Given the description of an element on the screen output the (x, y) to click on. 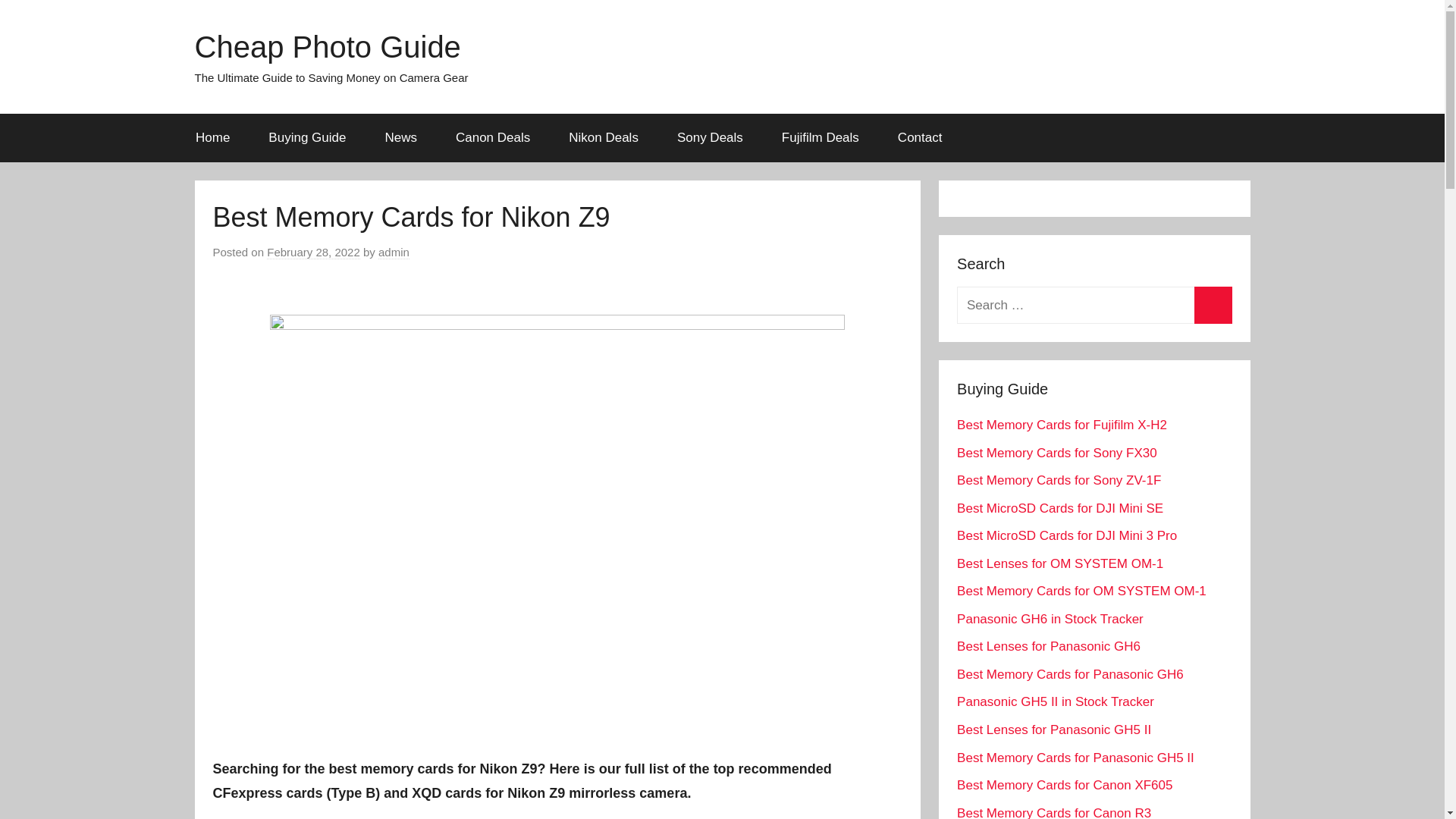
Fujifilm Deals (819, 137)
February 28, 2022 (312, 252)
Canon Deals (491, 137)
Home (212, 137)
News (400, 137)
Contact (918, 137)
Buying Guide (306, 137)
Nikon Deals (604, 137)
View all posts by admin (393, 252)
admin (393, 252)
Sony Deals (709, 137)
Cheap Photo Guide (326, 46)
